Given the description of an element on the screen output the (x, y) to click on. 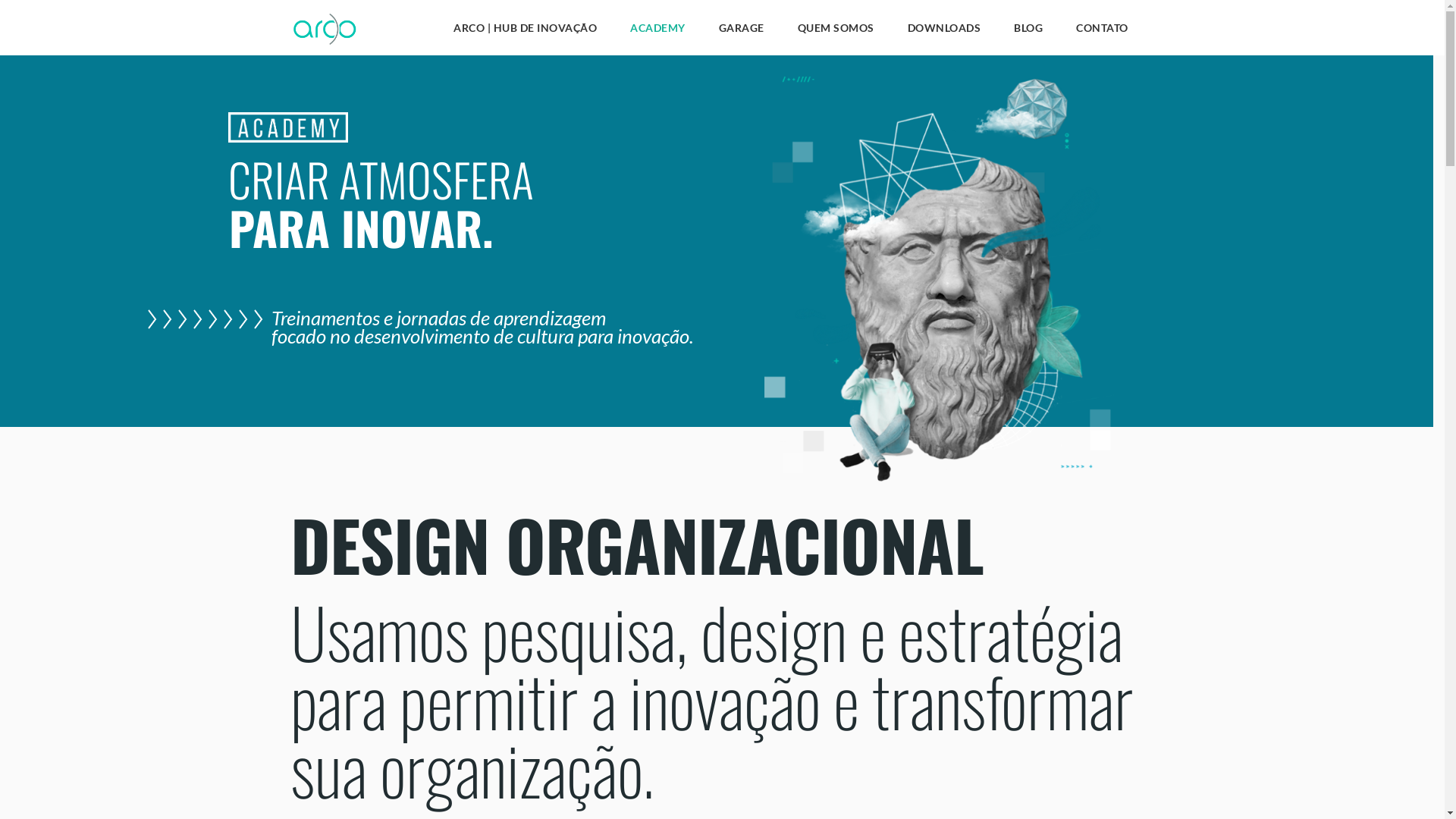
GARAGE Element type: text (741, 30)
QUEM SOMOS Element type: text (835, 30)
DOWNLOADS Element type: text (943, 30)
CONTATO Element type: text (1102, 30)
BLOG Element type: text (1027, 30)
ACADEMY Element type: text (657, 30)
